Given the description of an element on the screen output the (x, y) to click on. 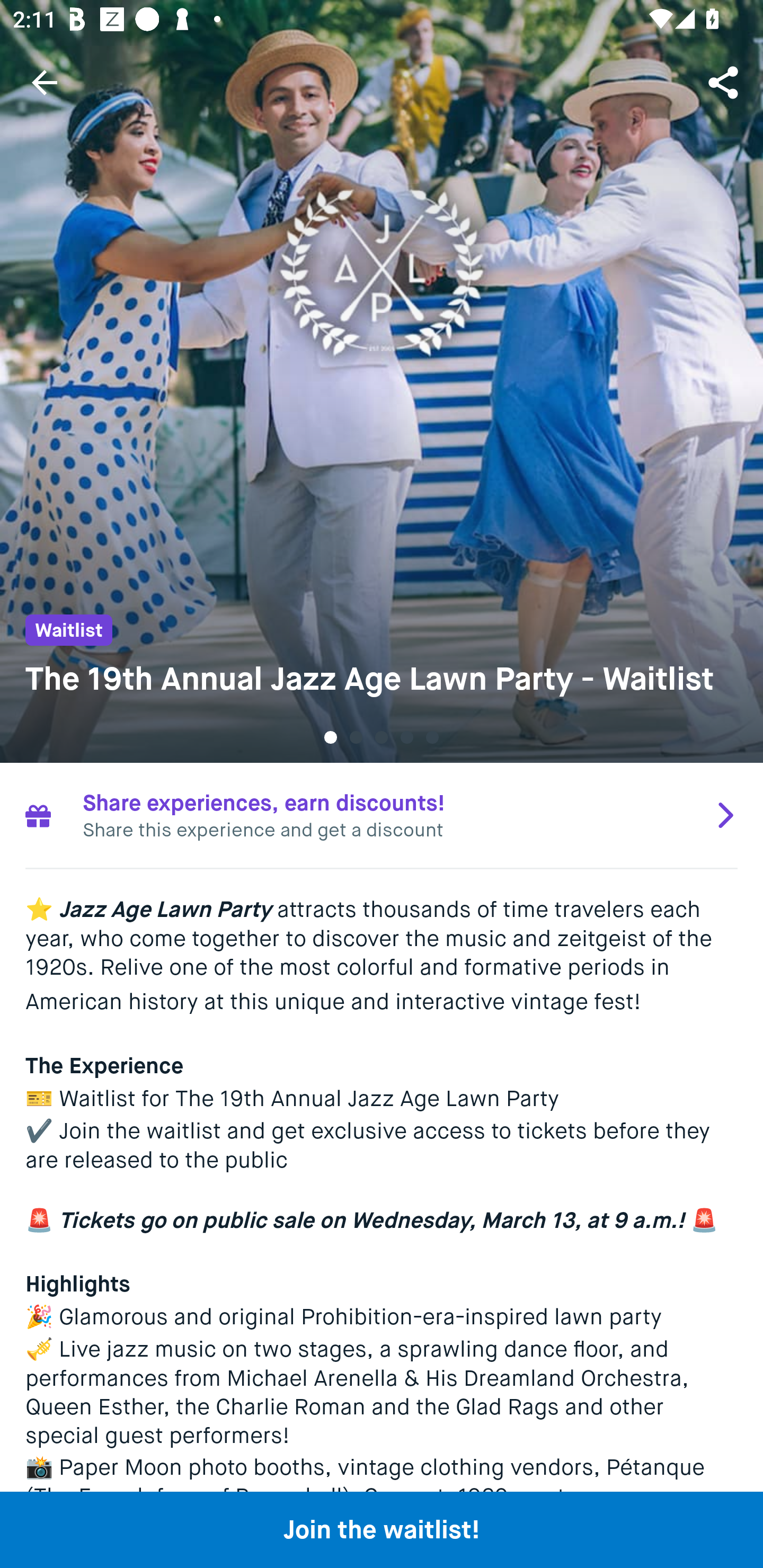
Navigate up (44, 82)
Share (724, 81)
Join the waitlist! (381, 1529)
